Given the description of an element on the screen output the (x, y) to click on. 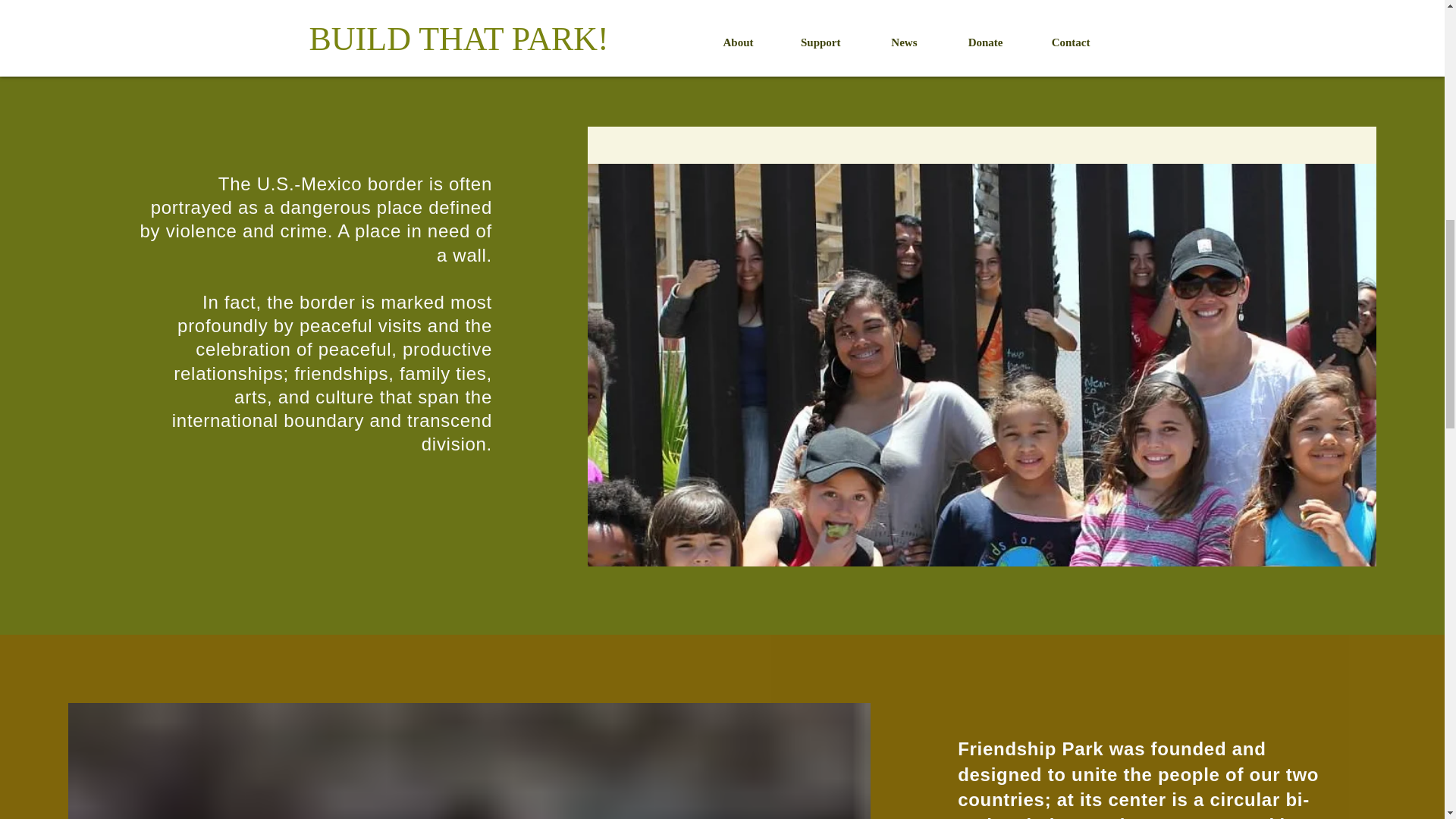
here (681, 19)
